Given the description of an element on the screen output the (x, y) to click on. 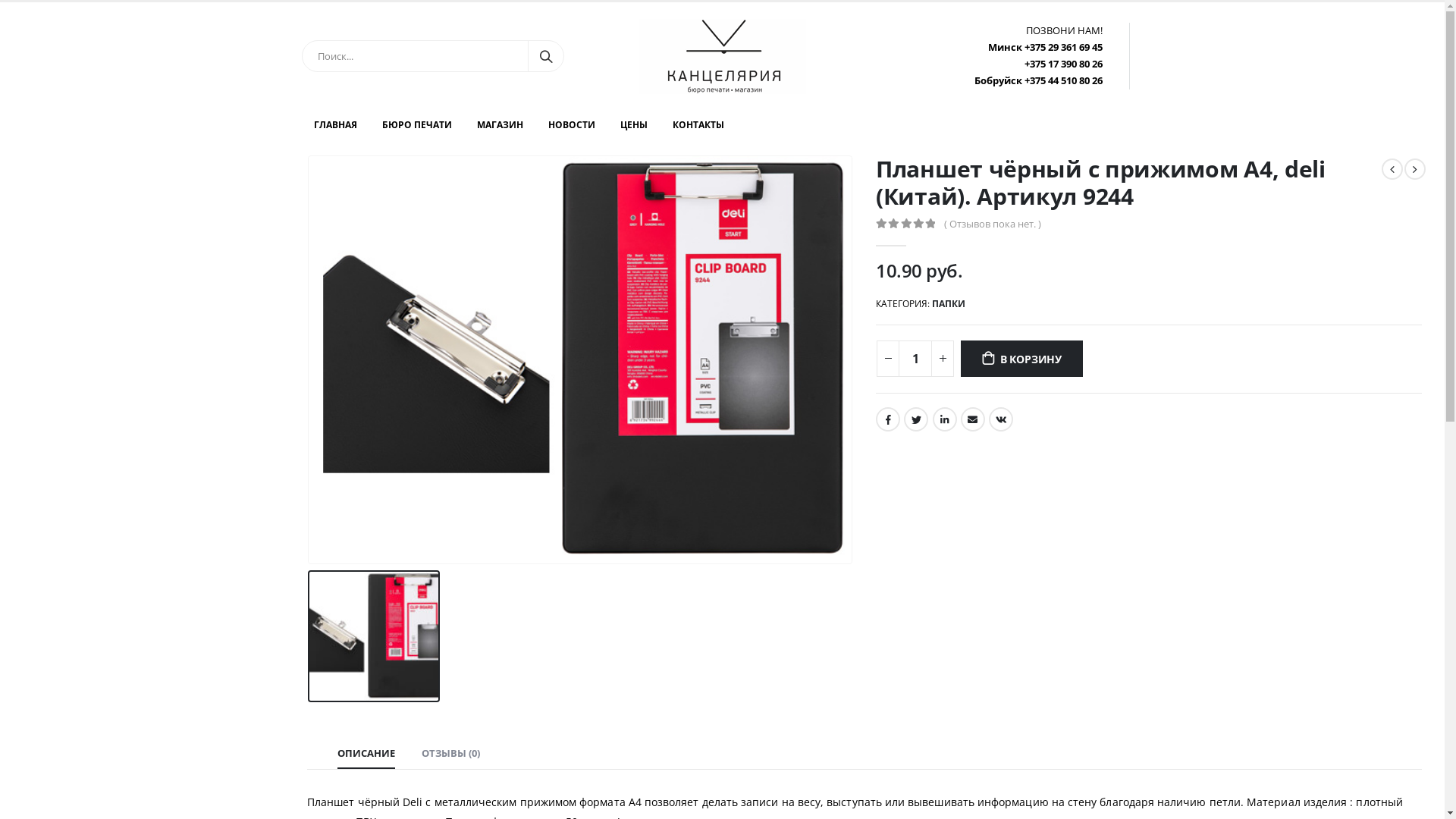
Facebook Element type: text (887, 419)
- Element type: text (887, 358)
+ Element type: text (942, 358)
9244-planshet-prizim-deli Element type: hover (579, 359)
Twitter Element type: text (915, 419)
LinkedIn Element type: text (944, 419)
